Given the description of an element on the screen output the (x, y) to click on. 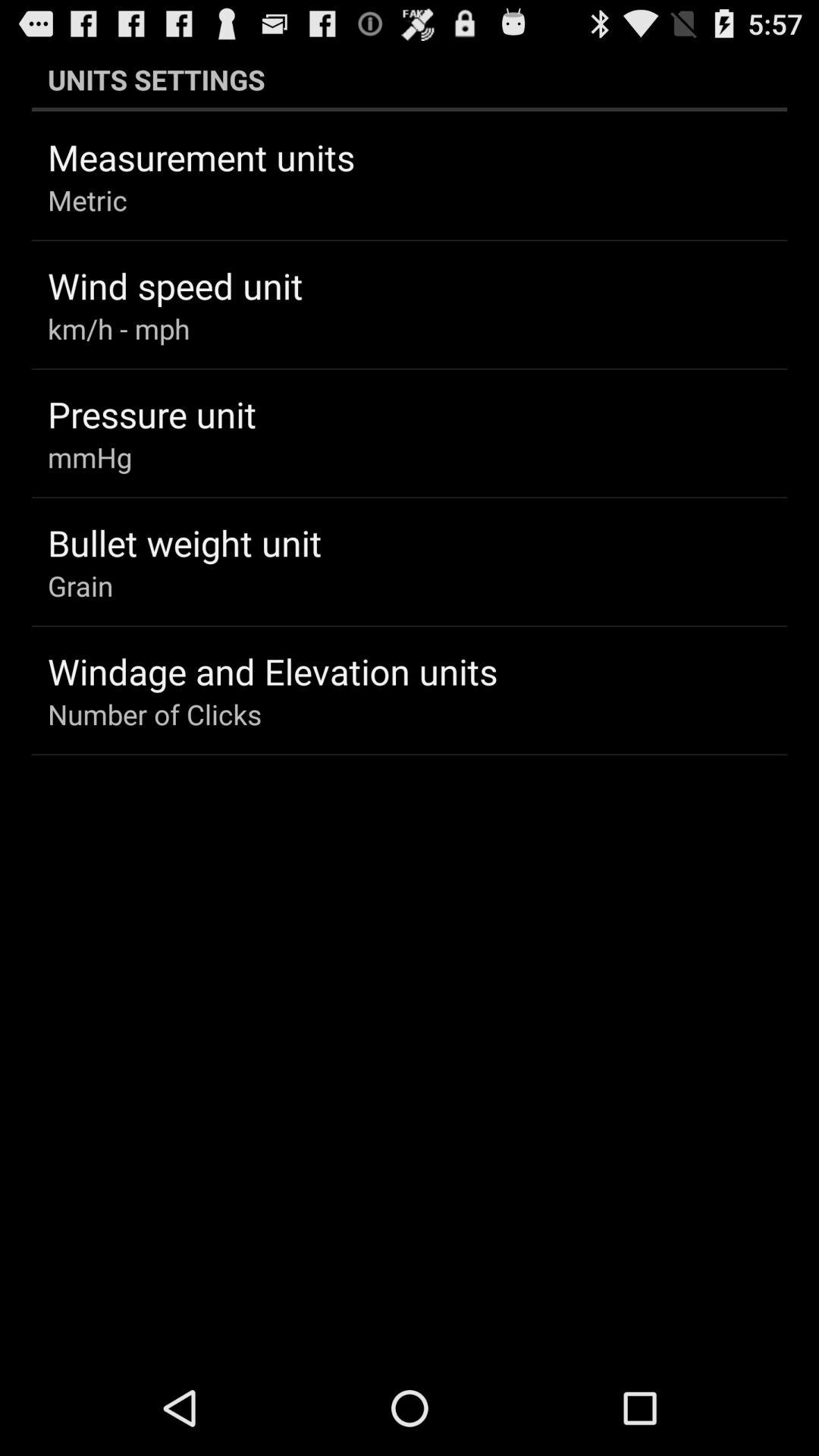
open measurement units item (200, 157)
